Given the description of an element on the screen output the (x, y) to click on. 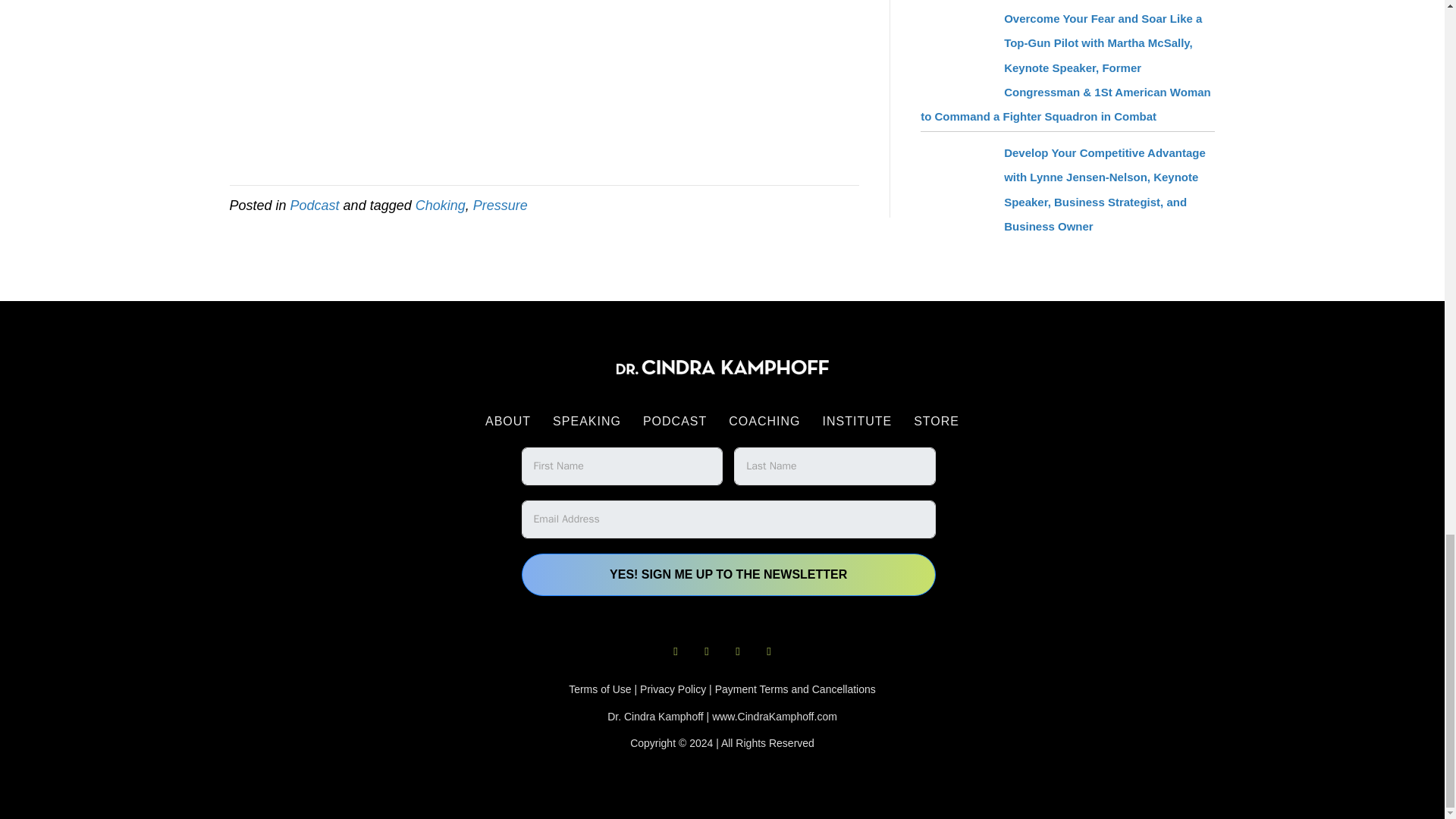
ABOUT (507, 420)
Pressure (500, 205)
Choking (439, 205)
SPEAKING (586, 420)
Embed Player (543, 80)
Podcast (314, 205)
logo (721, 366)
PODCAST (674, 420)
